Given the description of an element on the screen output the (x, y) to click on. 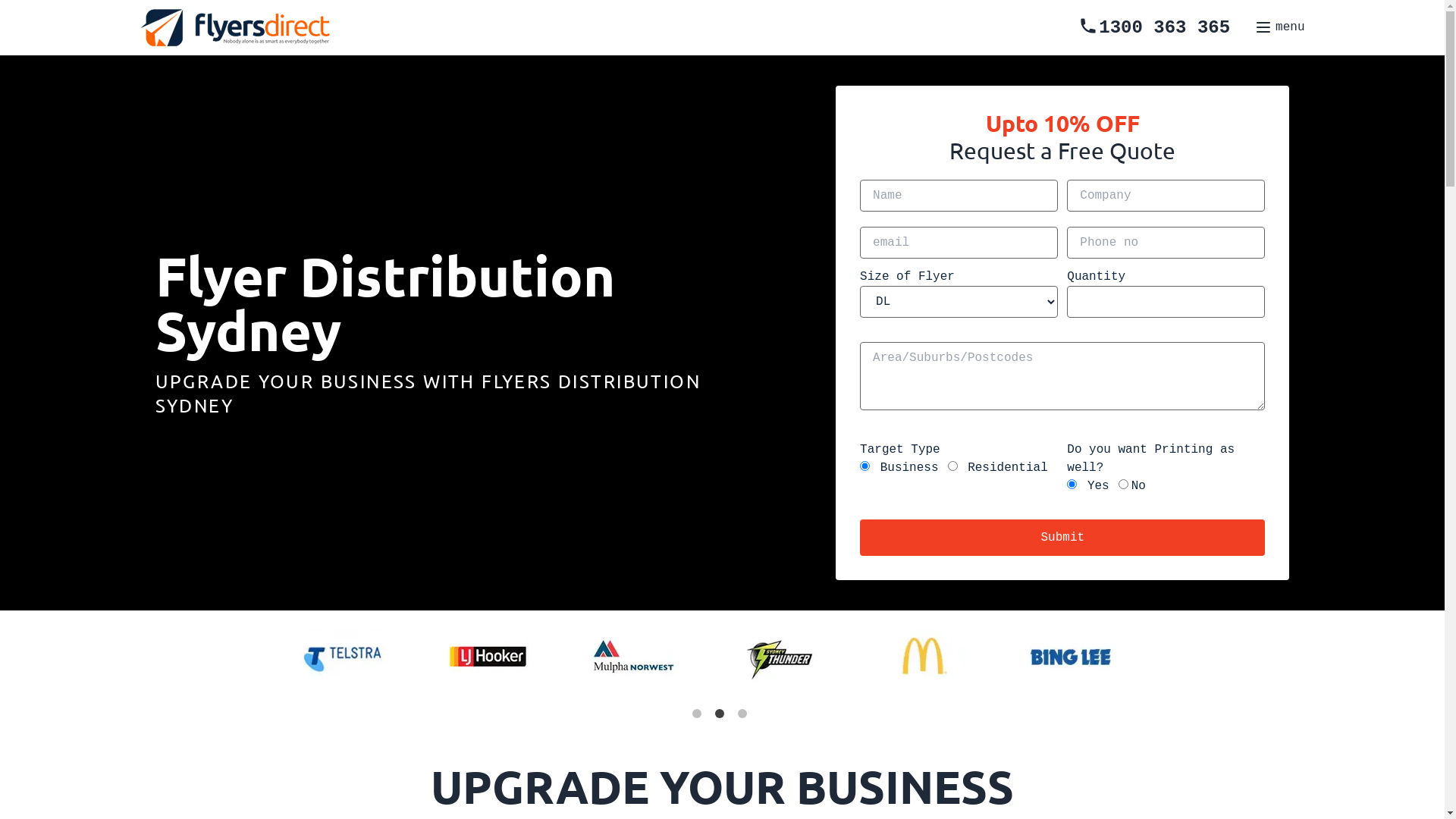
menu Element type: text (1279, 27)
Contact Element type: text (760, 420)
1300 363 365 Element type: text (1153, 27)
2 Element type: text (721, 716)
Submit Element type: text (1061, 537)
3 Element type: text (744, 716)
AVAIL NOW Element type: text (787, 427)
Flyer Distribution Element type: text (800, 420)
Home Element type: text (752, 420)
Blog Element type: text (746, 420)
1 Element type: text (698, 716)
